Given the description of an element on the screen output the (x, y) to click on. 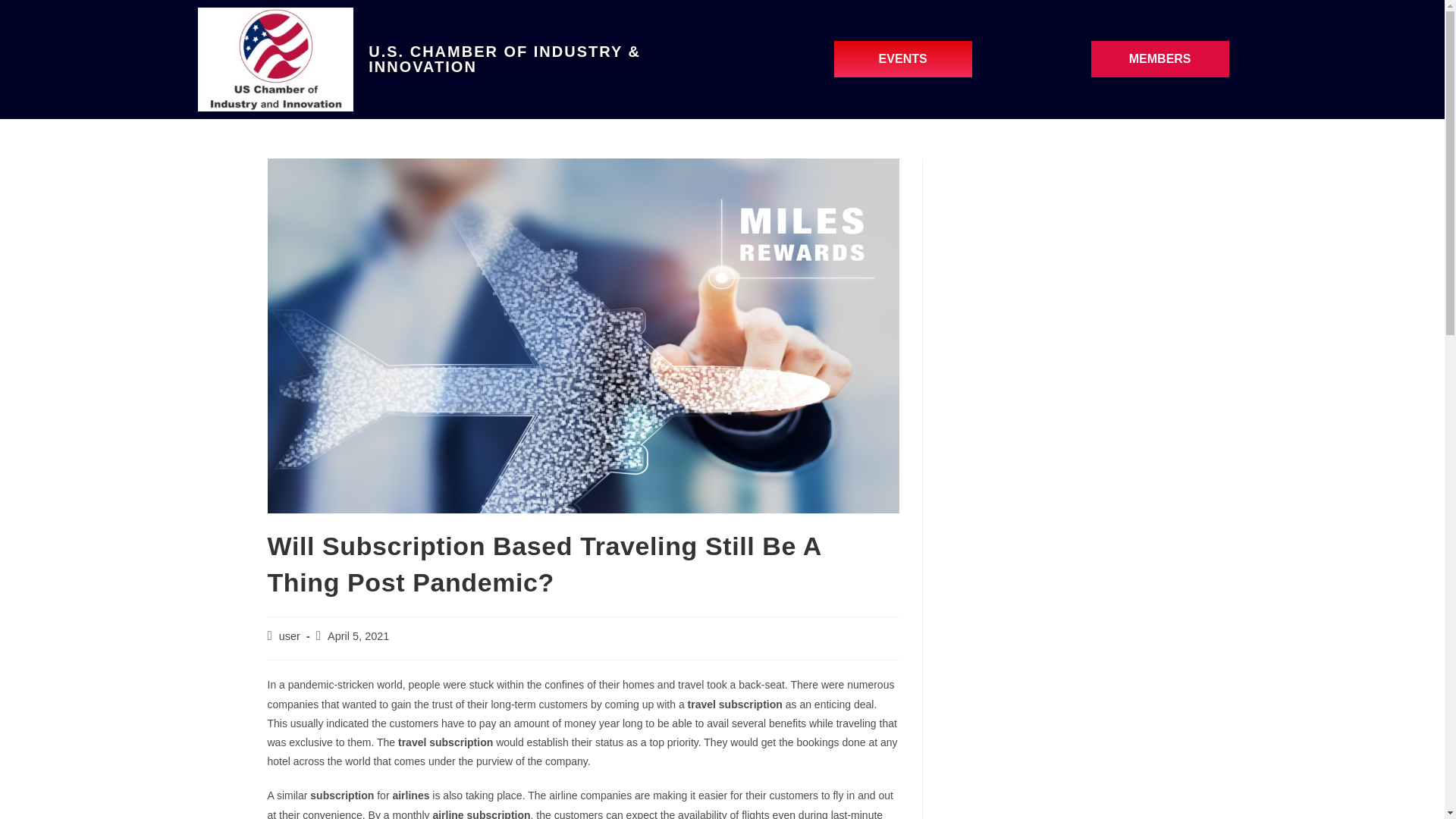
user (289, 635)
MEMBERS (1159, 58)
EVENTS (903, 58)
Posts by user (289, 635)
